Given the description of an element on the screen output the (x, y) to click on. 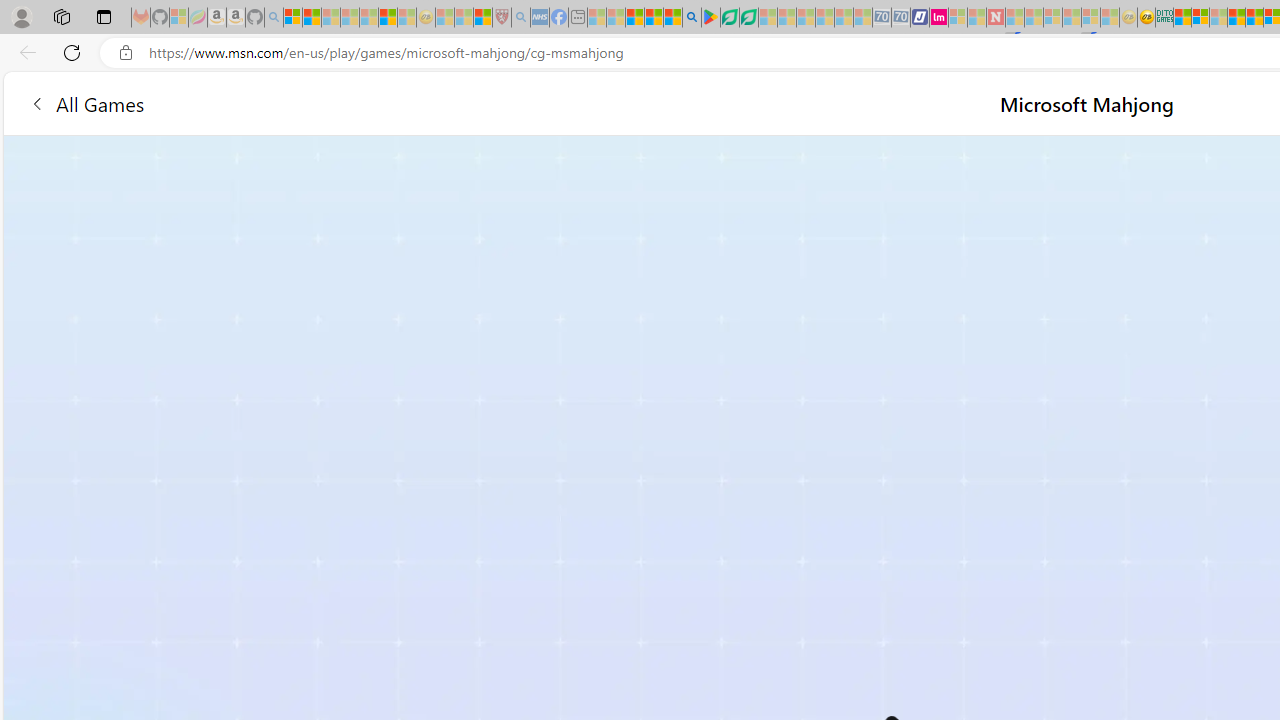
Microsoft Word - consumer-privacy address update 2.2021 (748, 17)
All Games (380, 102)
Pets - MSN (654, 17)
